Given the description of an element on the screen output the (x, y) to click on. 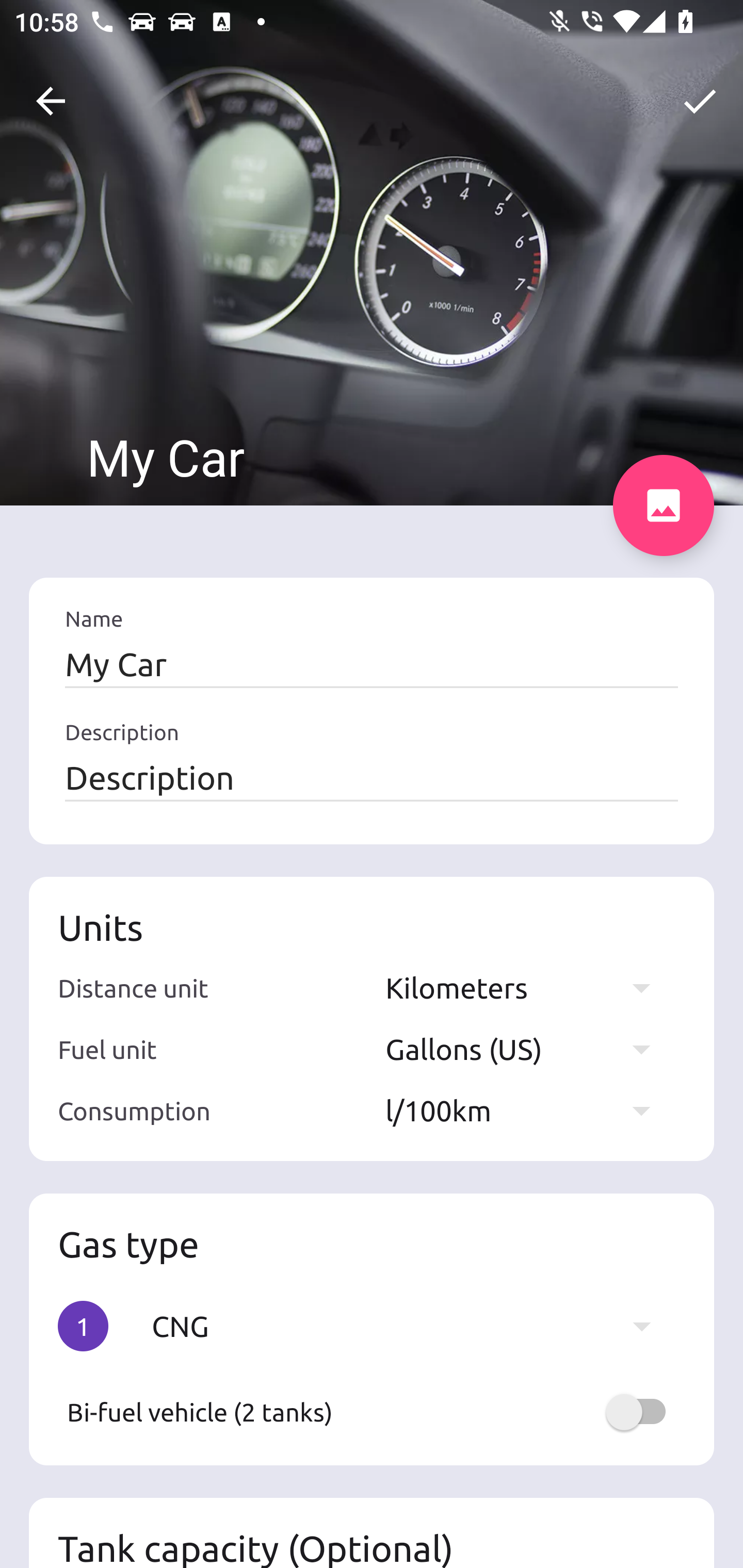
Navigate up (50, 101)
OK (699, 101)
My Car (371, 664)
Description (371, 777)
Kilometers (527, 987)
Gallons (US) (527, 1048)
l/100km (527, 1110)
CNG (411, 1325)
Bi-fuel vehicle (2 tanks) (371, 1411)
